Given the description of an element on the screen output the (x, y) to click on. 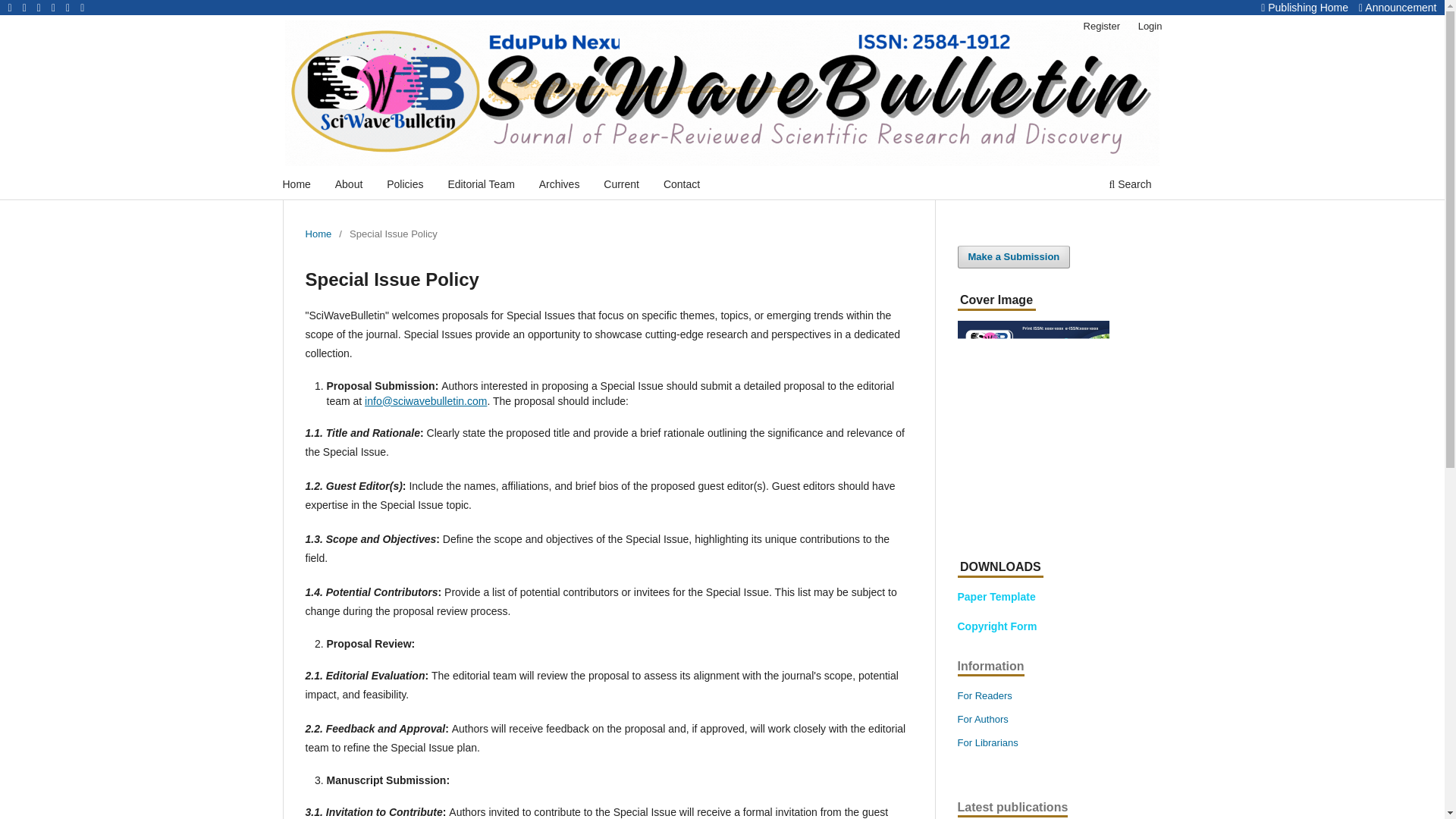
Policies (404, 185)
Editorial Team (480, 185)
Announcement (1397, 7)
Home (296, 185)
Archives (559, 185)
About (349, 185)
Publishing Home (1304, 7)
